Given the description of an element on the screen output the (x, y) to click on. 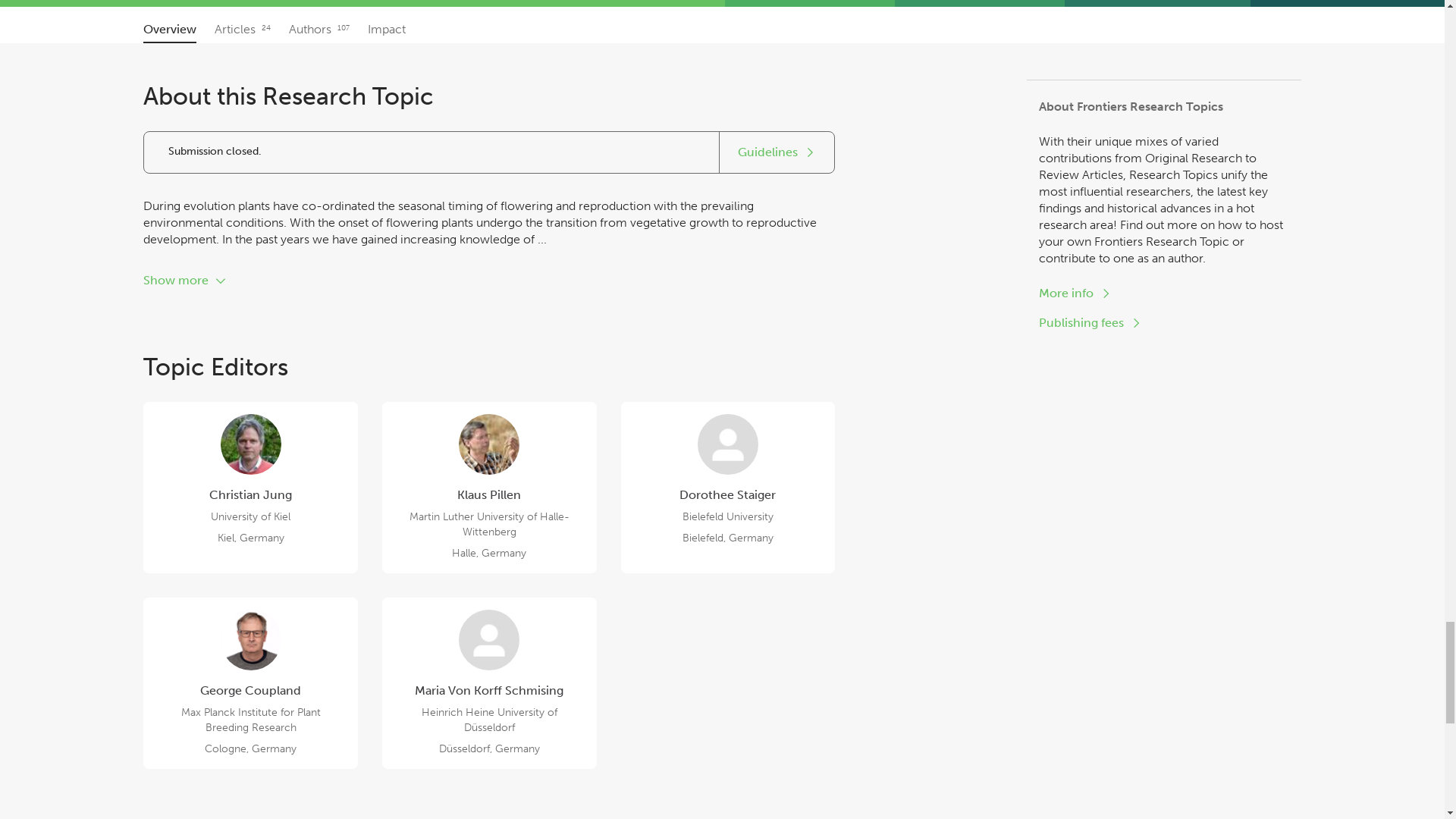
More info (1075, 293)
Show more (184, 280)
Overview (728, 487)
Articles 24 (169, 29)
Download PDF (242, 29)
Guidelines (1157, 3)
Authors 107 (776, 152)
Impact (318, 29)
Publishing fees (250, 487)
